Given the description of an element on the screen output the (x, y) to click on. 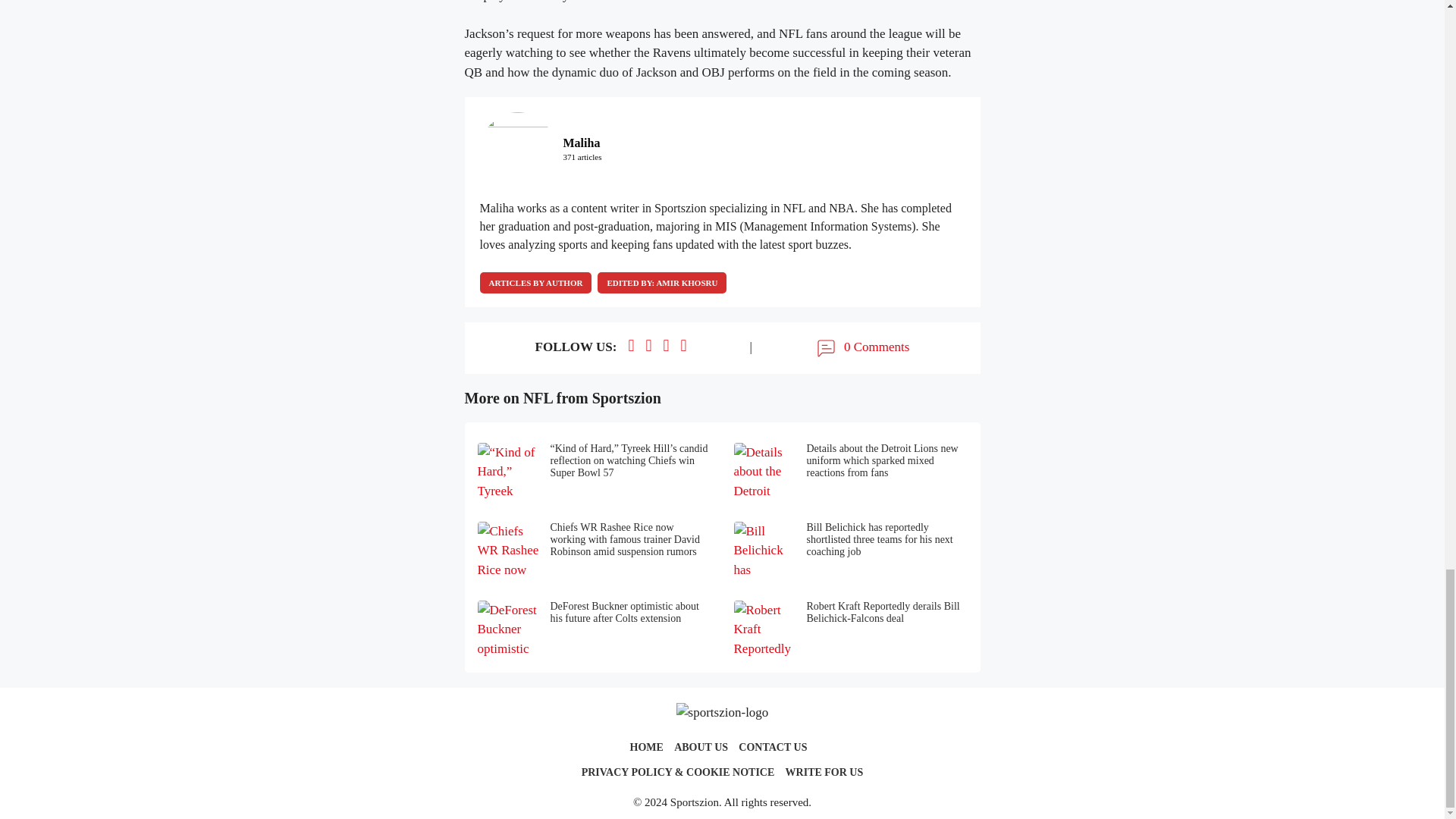
ARTICLES BY AUTHOR (535, 282)
EDITED BY: AMIR KHOSRU (661, 282)
Robert Kraft Reportedly derails Bill Belichick-Falcons deal (850, 630)
0 Comments (861, 347)
